Given the description of an element on the screen output the (x, y) to click on. 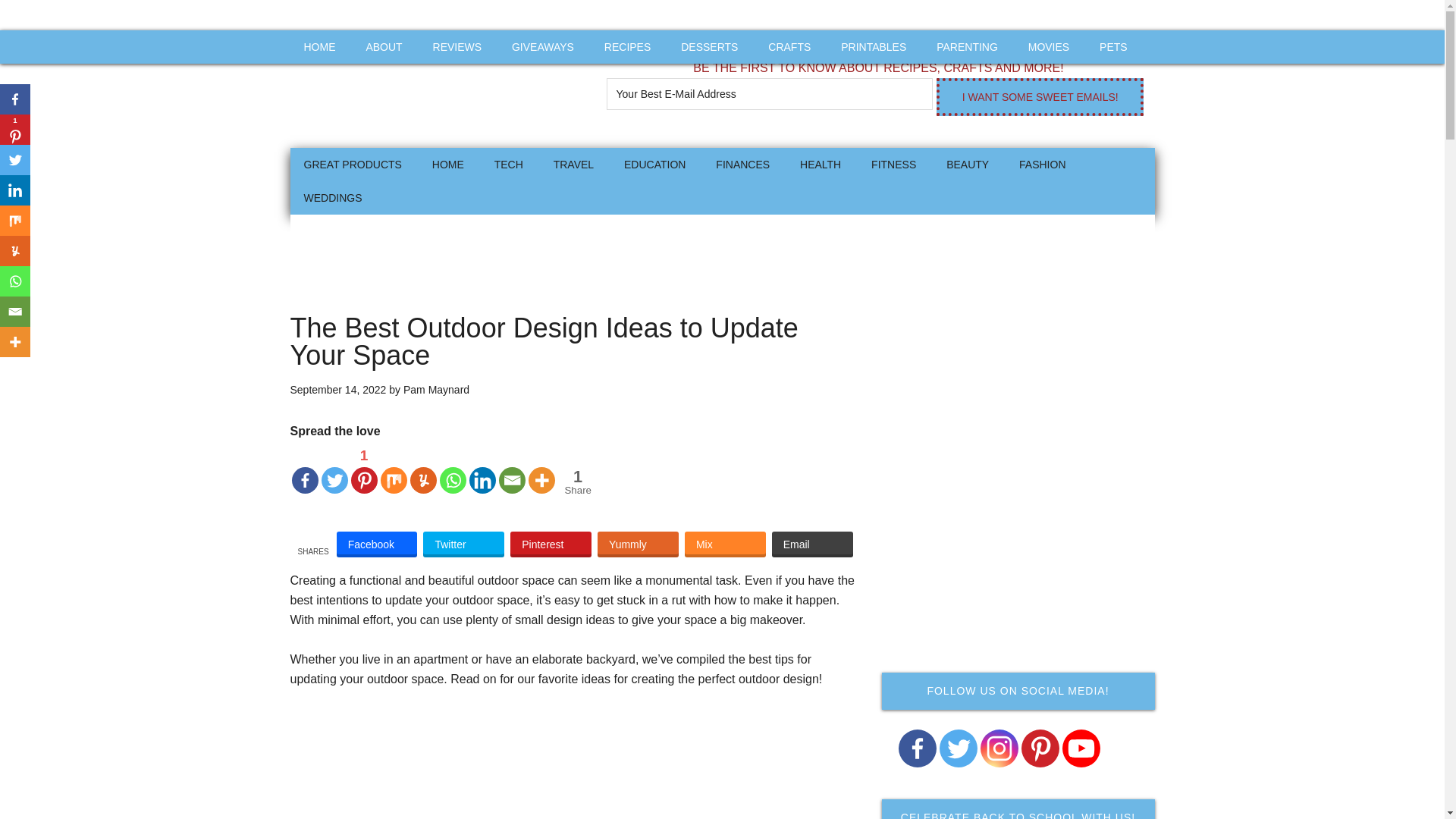
WEDDINGS (332, 197)
PARENTING (967, 46)
GREAT PRODUCTS (351, 164)
Pam Maynard (435, 389)
Giveaways (542, 46)
Facebook (376, 544)
HOME (448, 164)
Mom Does Reviews (433, 88)
Home (448, 164)
Share on Facebook (376, 544)
